Given the description of an element on the screen output the (x, y) to click on. 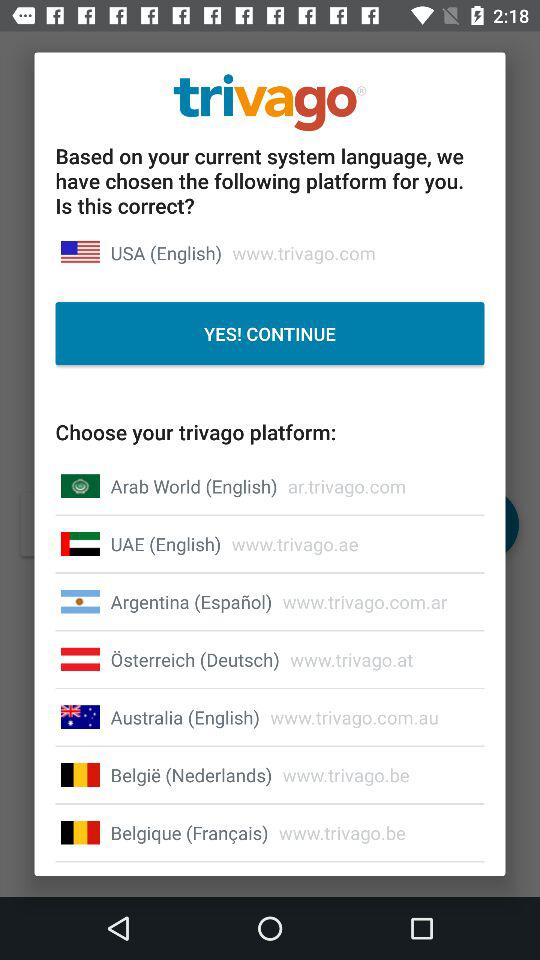
launch icon above yes! continue icon (166, 252)
